Given the description of an element on the screen output the (x, y) to click on. 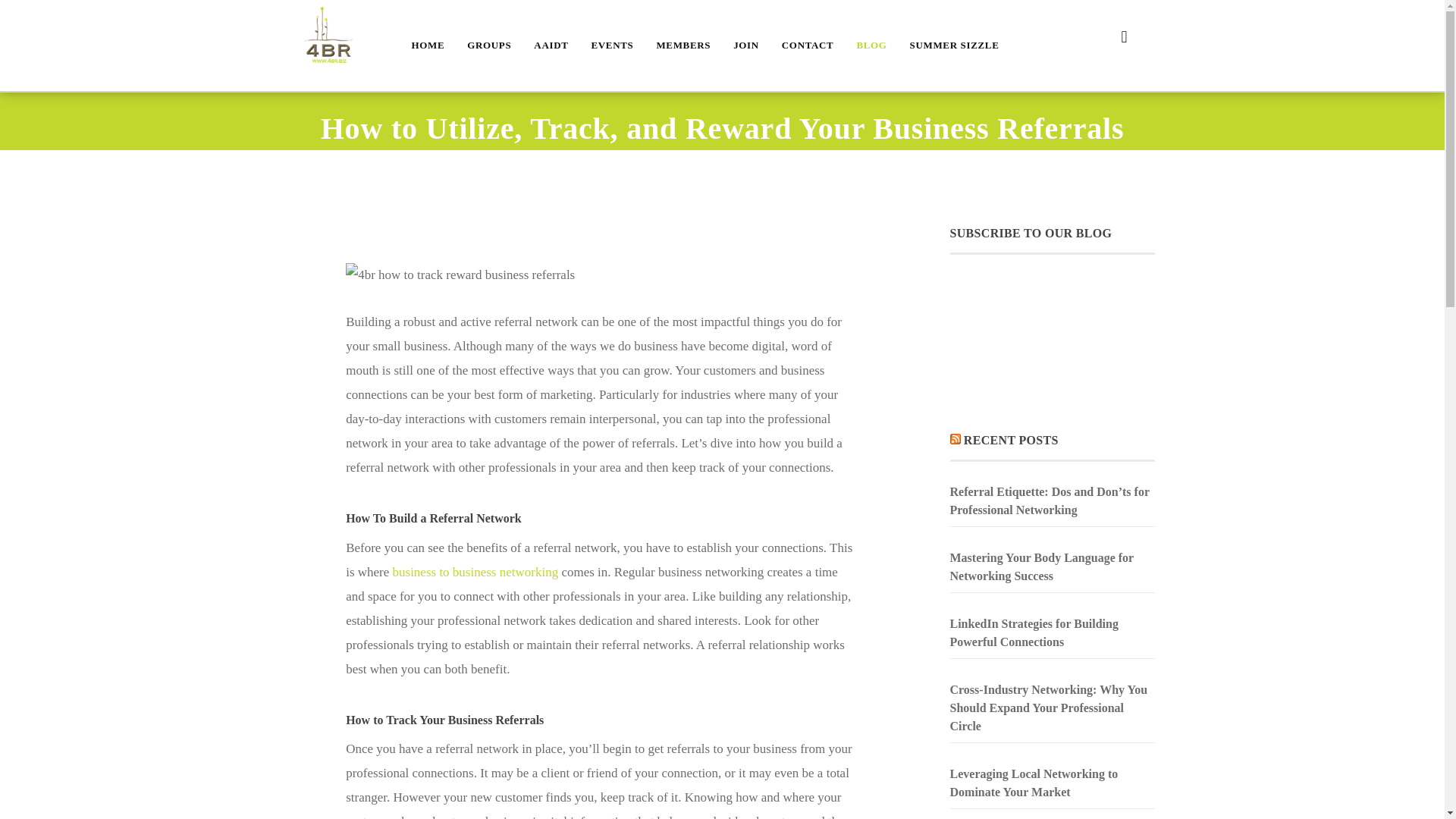
RECENT POSTS (1010, 440)
business to business networking (476, 572)
SUMMER SIZZLE (954, 45)
Mastering Your Body Language for Networking Success (1051, 566)
4BR (327, 38)
